Given the description of an element on the screen output the (x, y) to click on. 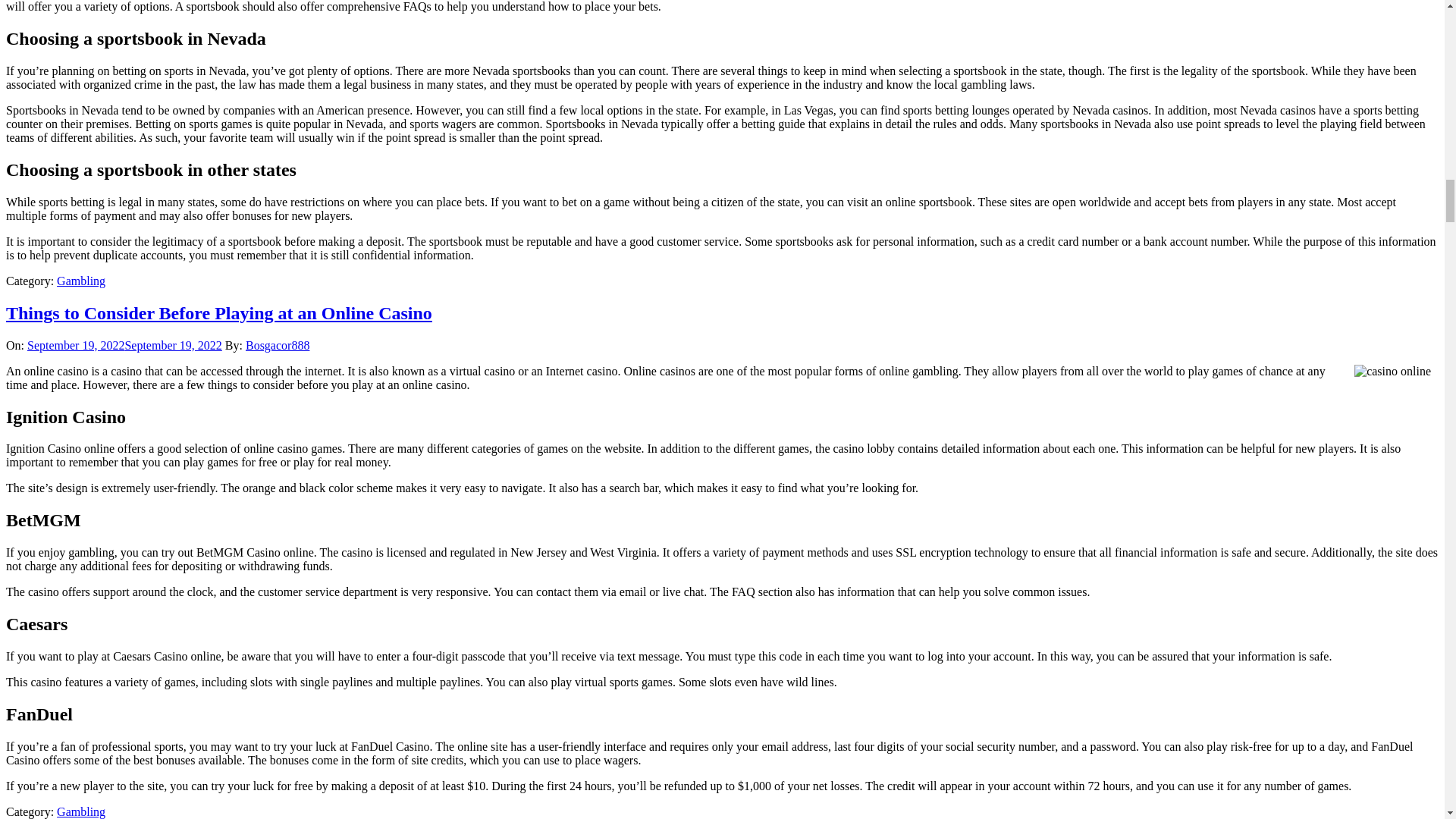
Gambling (80, 280)
Gambling (80, 811)
Things to Consider Before Playing at an Online Casino (218, 312)
Bosgacor888 (277, 345)
September 19, 2022September 19, 2022 (124, 345)
